Given the description of an element on the screen output the (x, y) to click on. 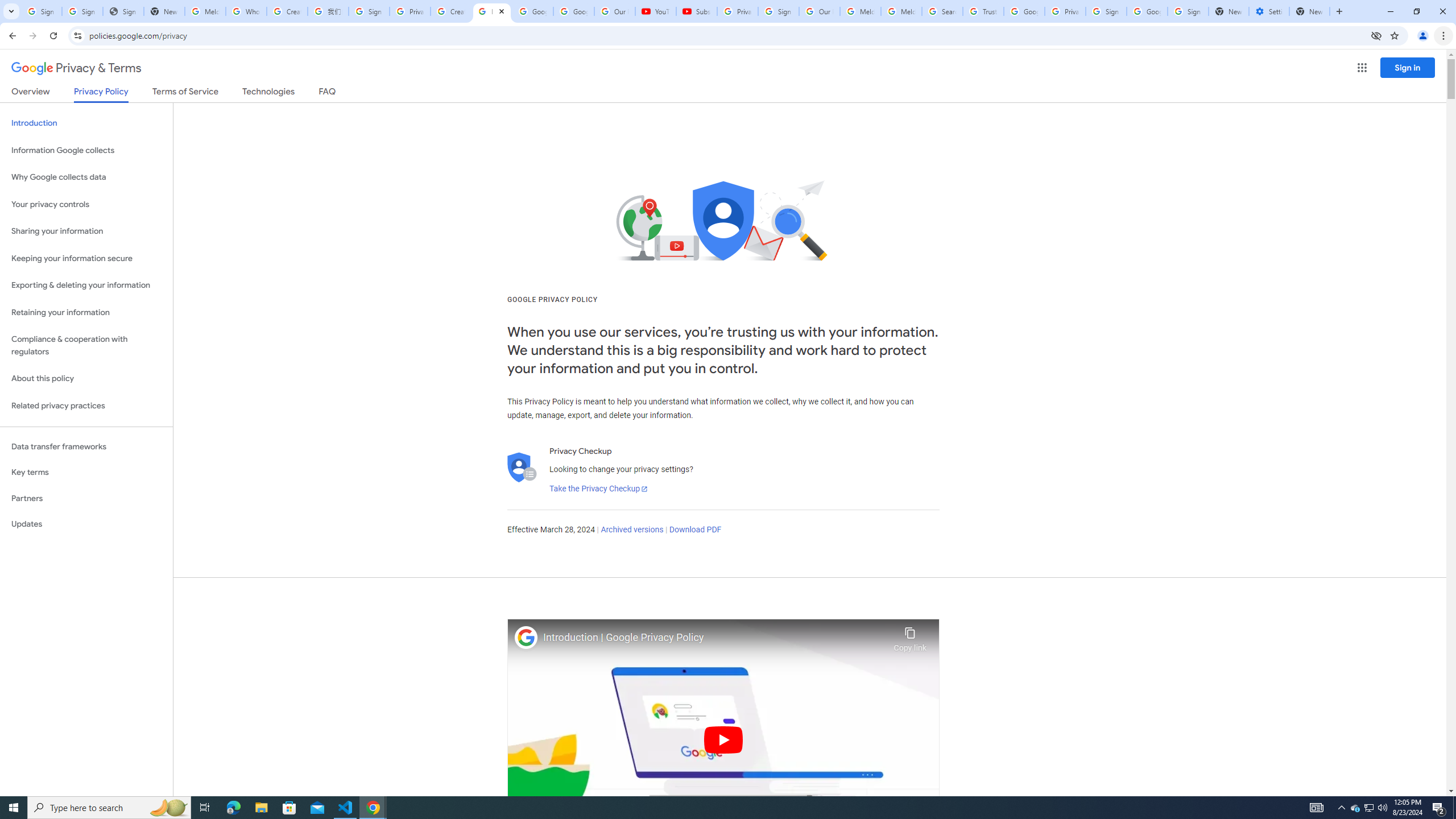
Google Ads - Sign in (1023, 11)
Information Google collects (86, 150)
Create your Google Account (287, 11)
About this policy (86, 379)
Copy link (909, 636)
Trusted Information and Content - Google Safety Center (983, 11)
Sharing your information (86, 230)
Sign in - Google Accounts (81, 11)
